Given the description of an element on the screen output the (x, y) to click on. 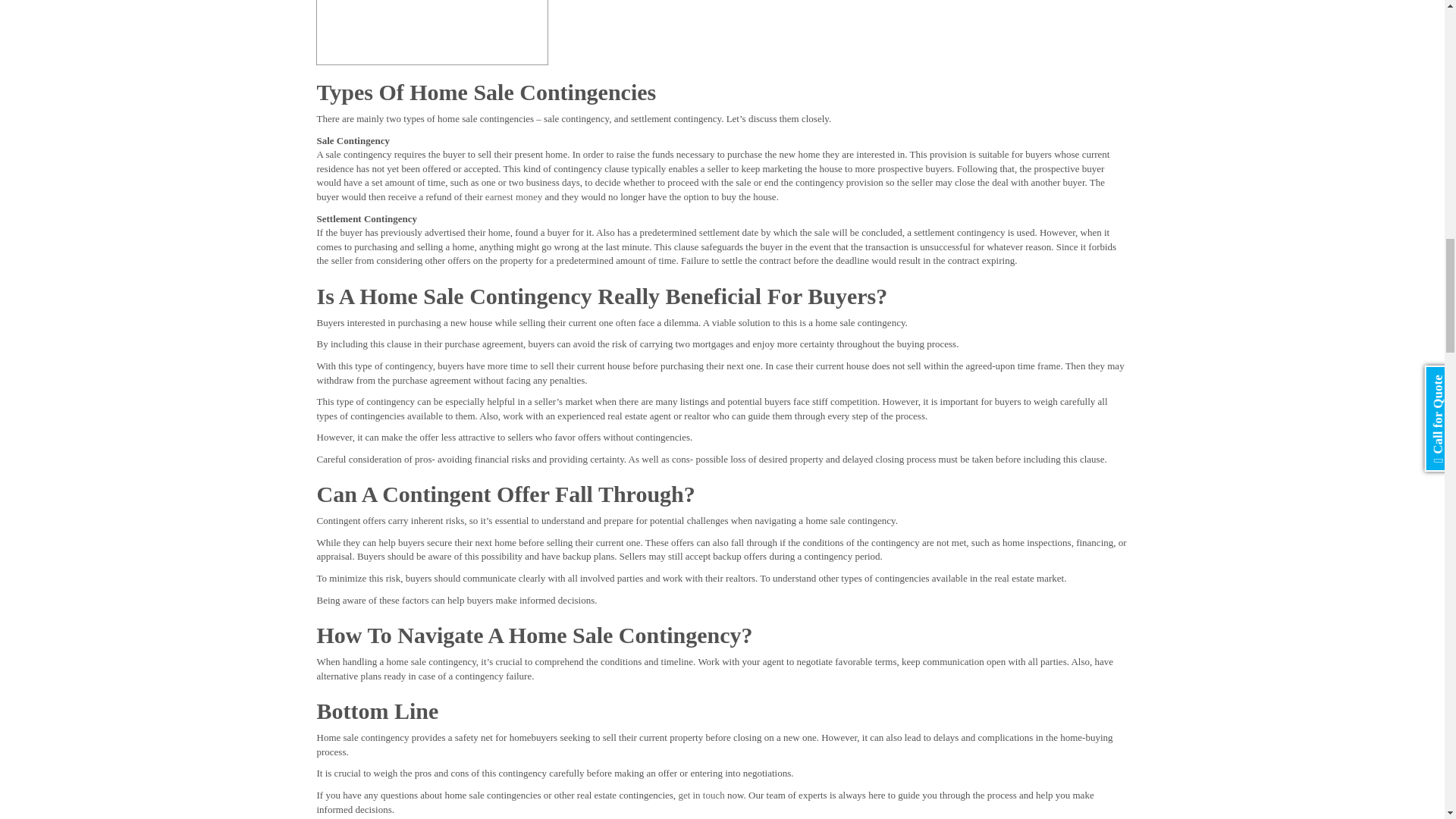
get in touch (700, 794)
earnest money (512, 196)
